Given the description of an element on the screen output the (x, y) to click on. 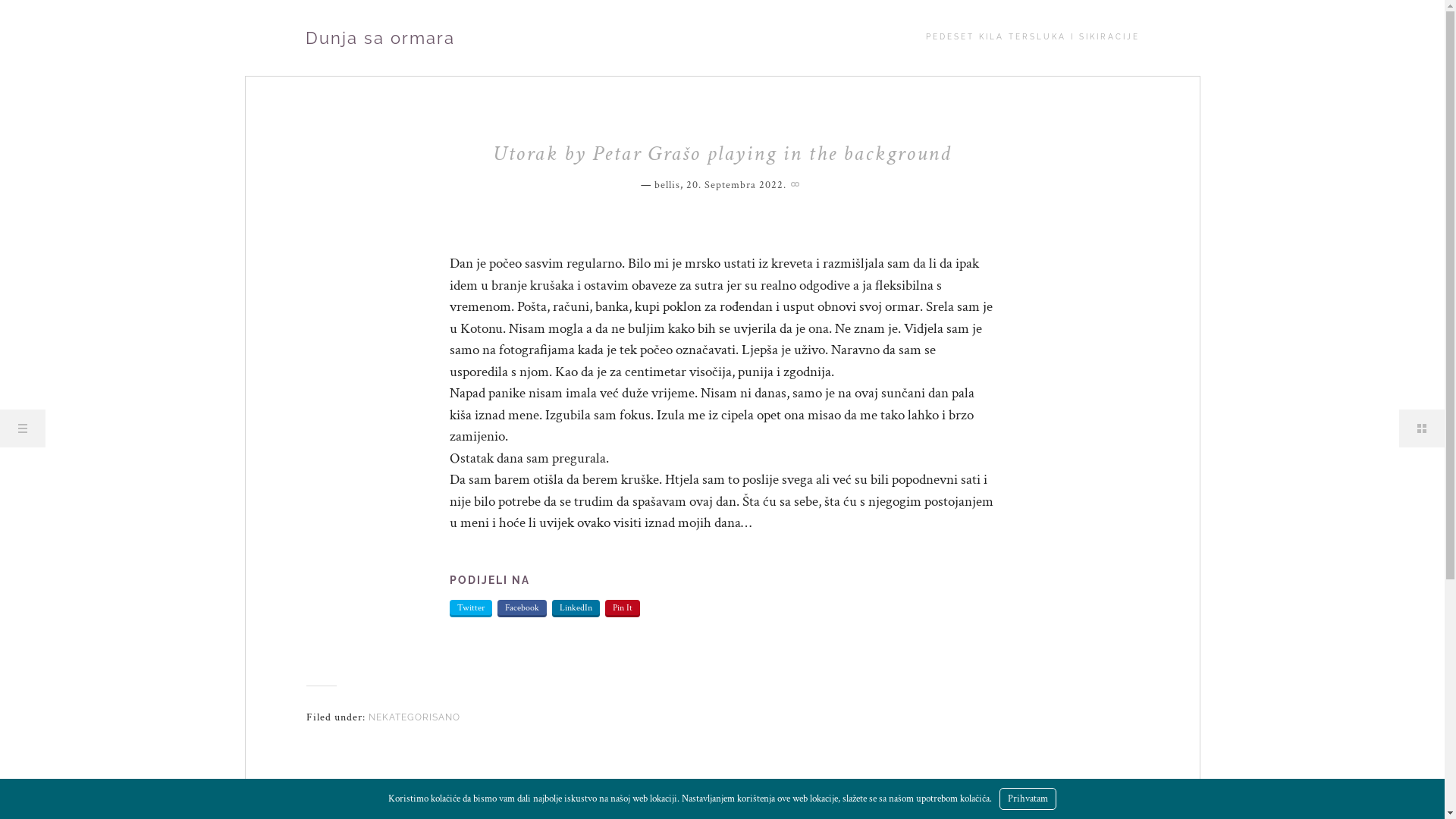
Prihvatam Element type: text (1027, 798)
LinkedIn Element type: text (575, 608)
Sidebar Element type: text (1421, 428)
Facebook Element type: text (521, 608)
bellis Element type: text (666, 184)
Twitter Element type: text (470, 608)
Menu Element type: text (22, 428)
Permalink Element type: text (795, 182)
20. Septembra 2022. Element type: text (735, 184)
Dunja sa ormara Element type: text (379, 37)
NEKATEGORISANO Element type: text (414, 717)
Pin It Element type: text (622, 608)
